Given the description of an element on the screen output the (x, y) to click on. 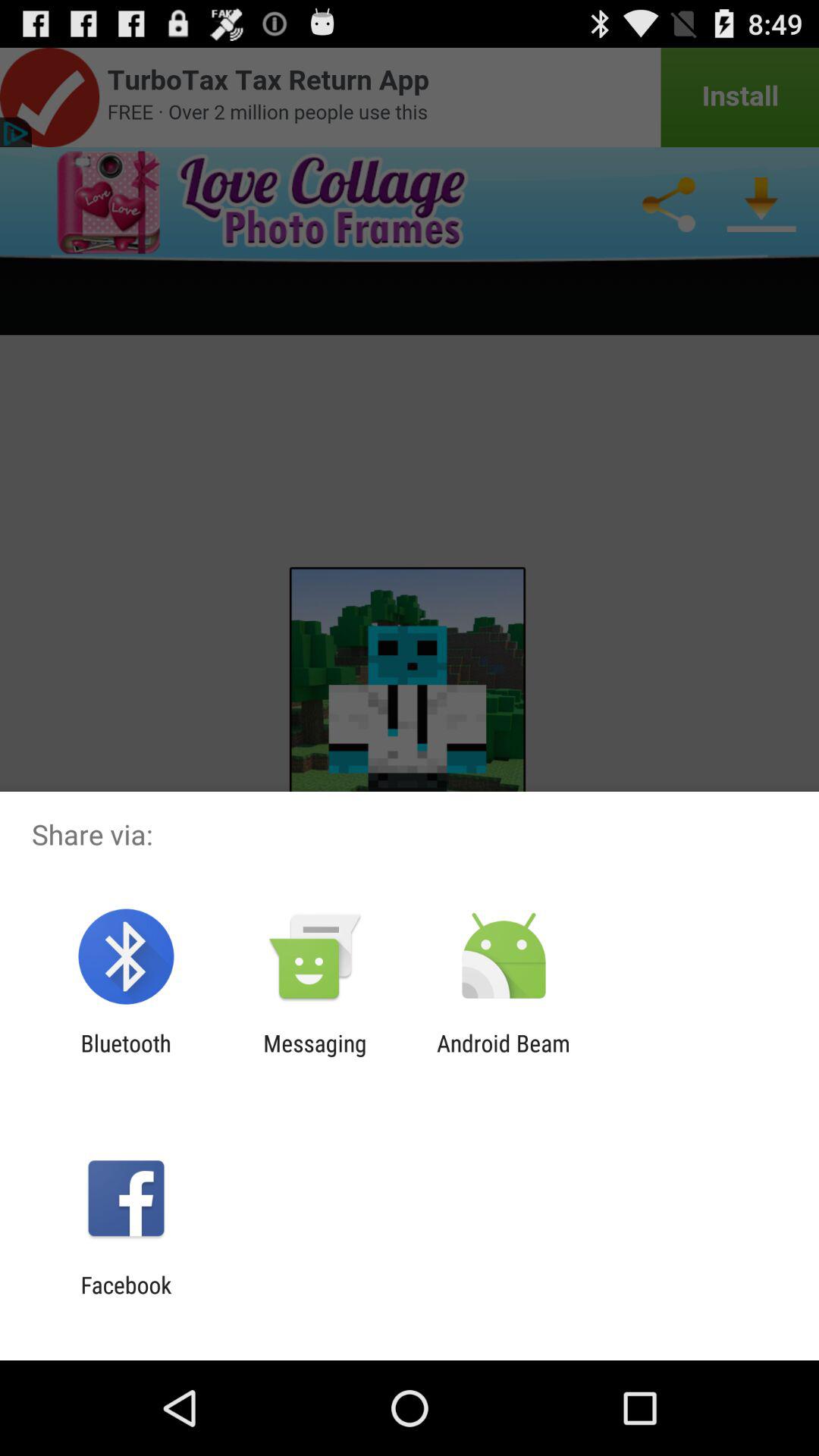
flip until the android beam app (503, 1056)
